Given the description of an element on the screen output the (x, y) to click on. 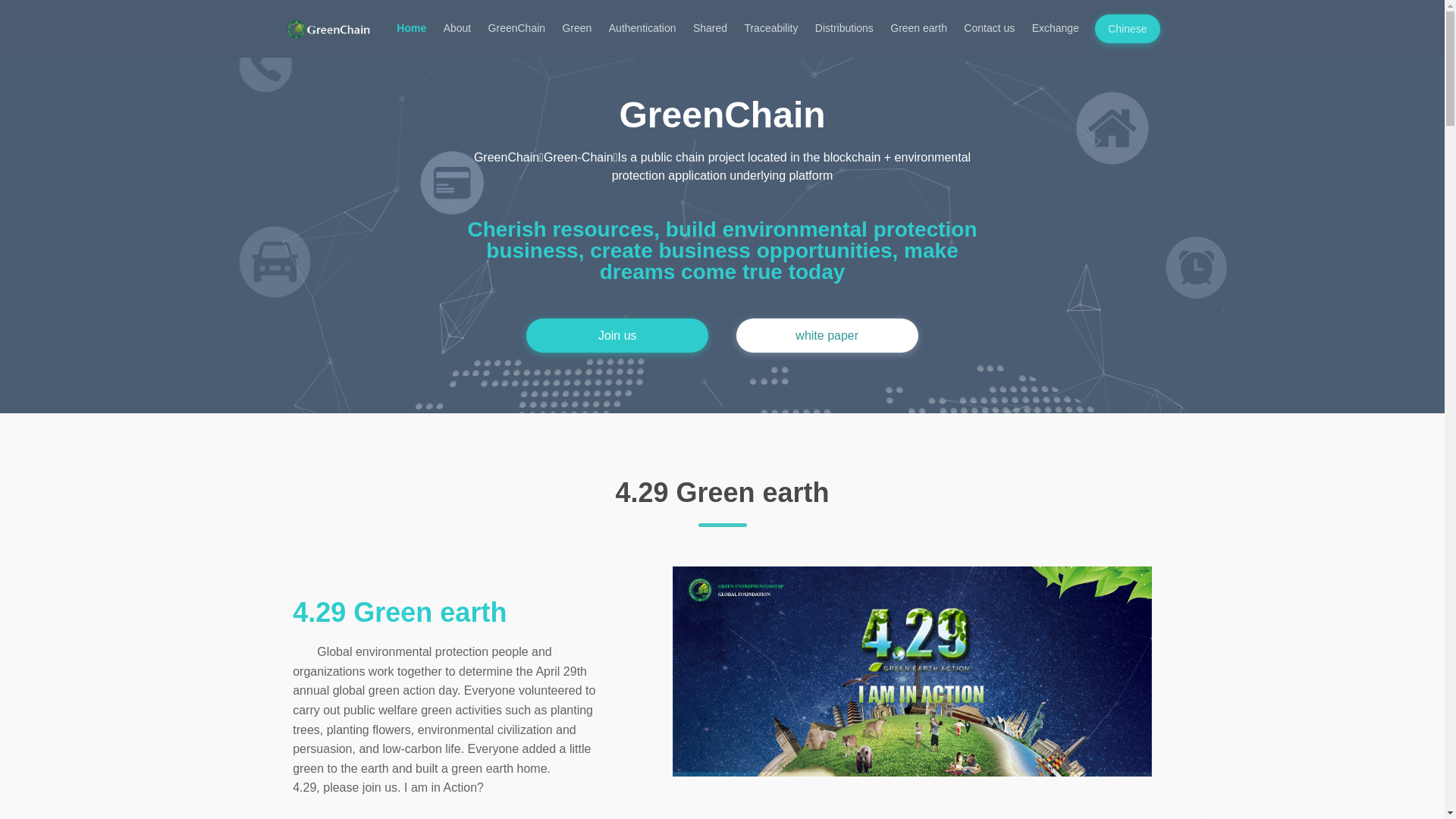
Exchange Element type: text (1054, 27)
GreenChain Element type: text (516, 27)
Contact us Element type: text (988, 27)
About Element type: text (456, 27)
Distributions Element type: text (843, 27)
Home Element type: text (411, 27)
Join us Element type: text (617, 335)
Green earth Element type: text (918, 27)
Authentication Element type: text (642, 27)
Traceability Element type: text (770, 27)
Green Element type: text (576, 27)
Chinese Element type: text (1127, 28)
Shared Element type: text (710, 27)
white paper Element type: text (827, 335)
